Given the description of an element on the screen output the (x, y) to click on. 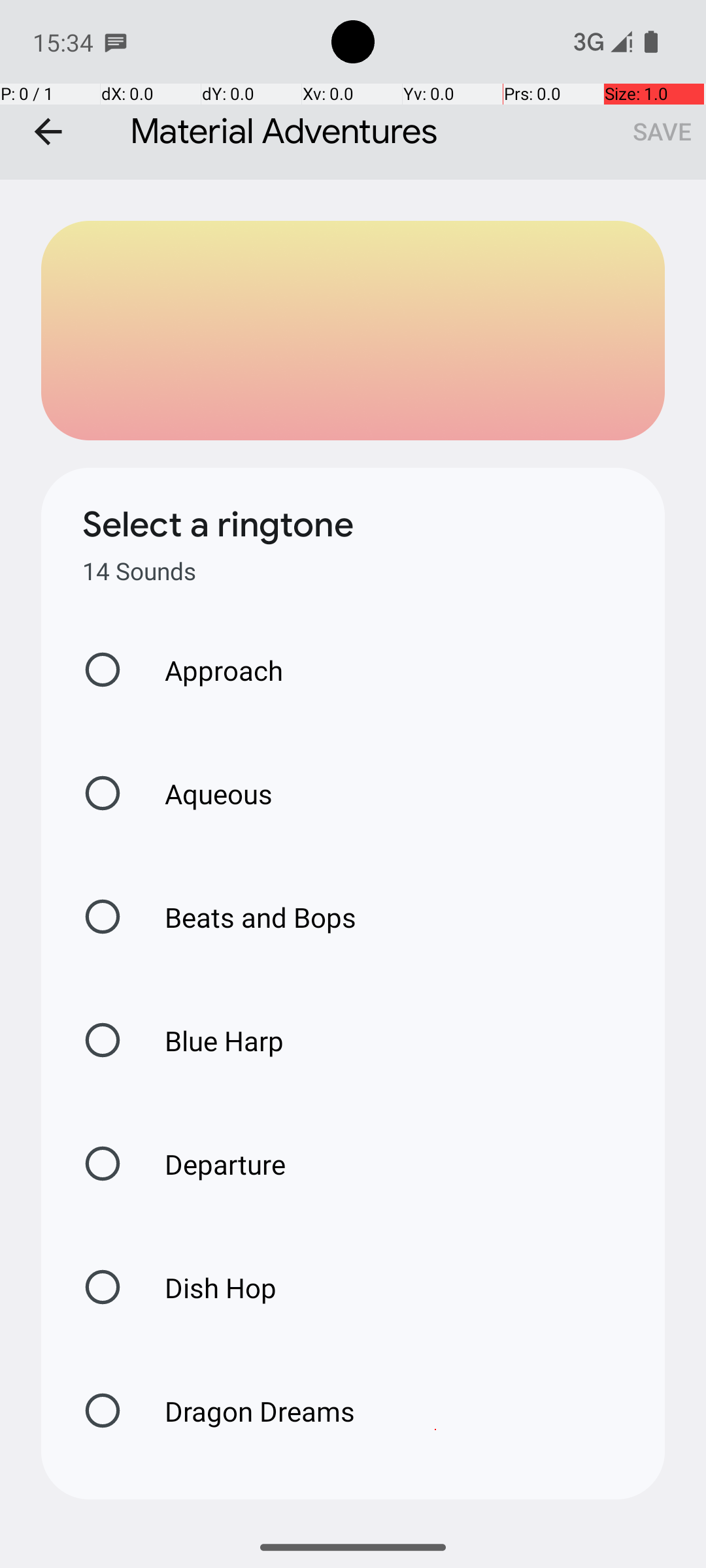
Material Adventures Element type: android.widget.FrameLayout (353, 89)
Select a ringtone Element type: android.widget.TextView (217, 524)
14 Sounds Element type: android.widget.TextView (139, 570)
Approach Element type: android.widget.TextView (210, 669)
Aqueous Element type: android.widget.TextView (204, 793)
Beats and Bops Element type: android.widget.TextView (246, 916)
Blue Harp Element type: android.widget.TextView (210, 1040)
Departure Element type: android.widget.TextView (211, 1163)
Dish Hop Element type: android.widget.TextView (206, 1287)
Dragon Dreams Element type: android.widget.TextView (245, 1410)
